Given the description of an element on the screen output the (x, y) to click on. 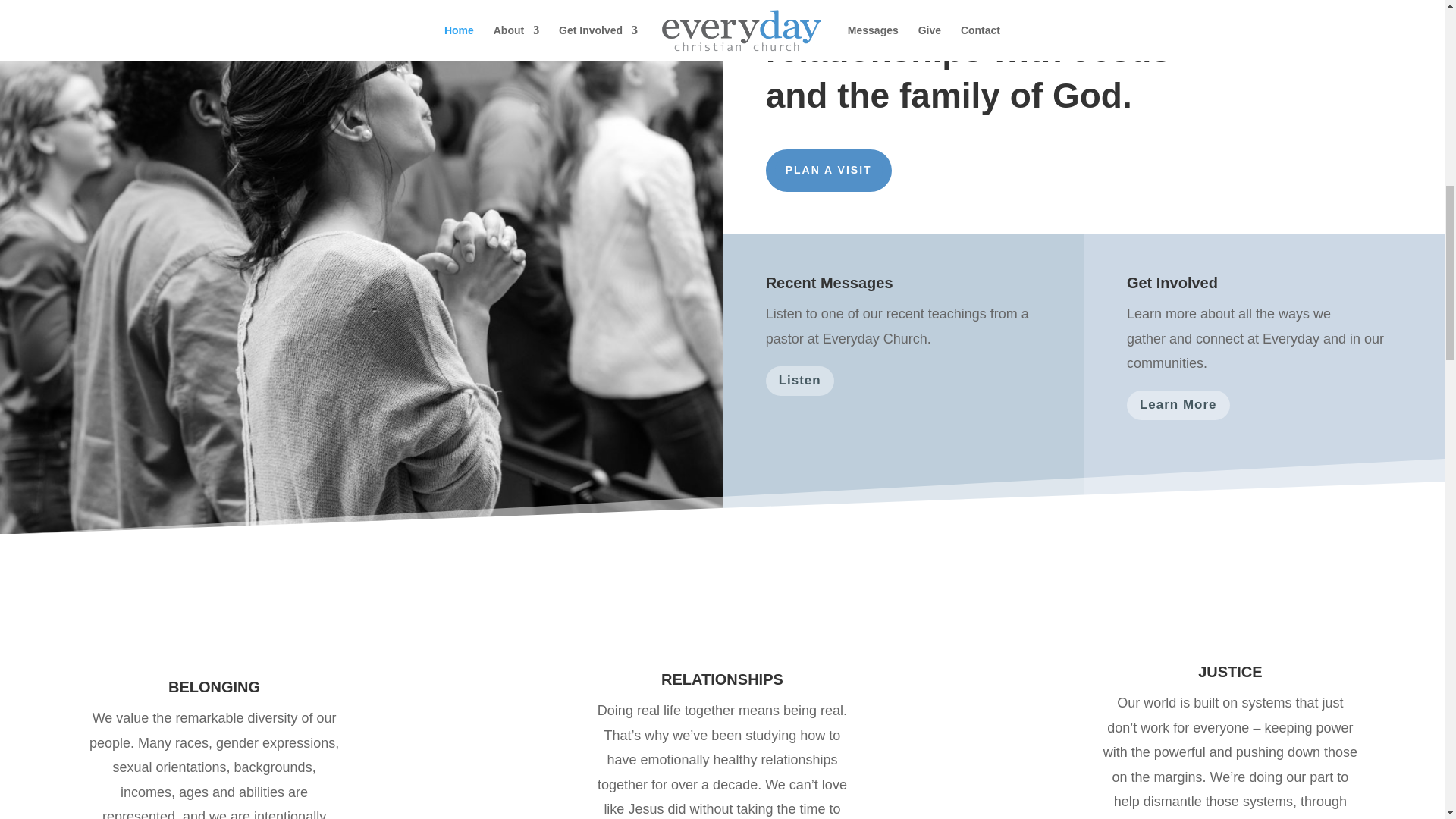
PLAN A VISIT (828, 170)
Learn More (1178, 405)
Listen (799, 380)
